Given the description of an element on the screen output the (x, y) to click on. 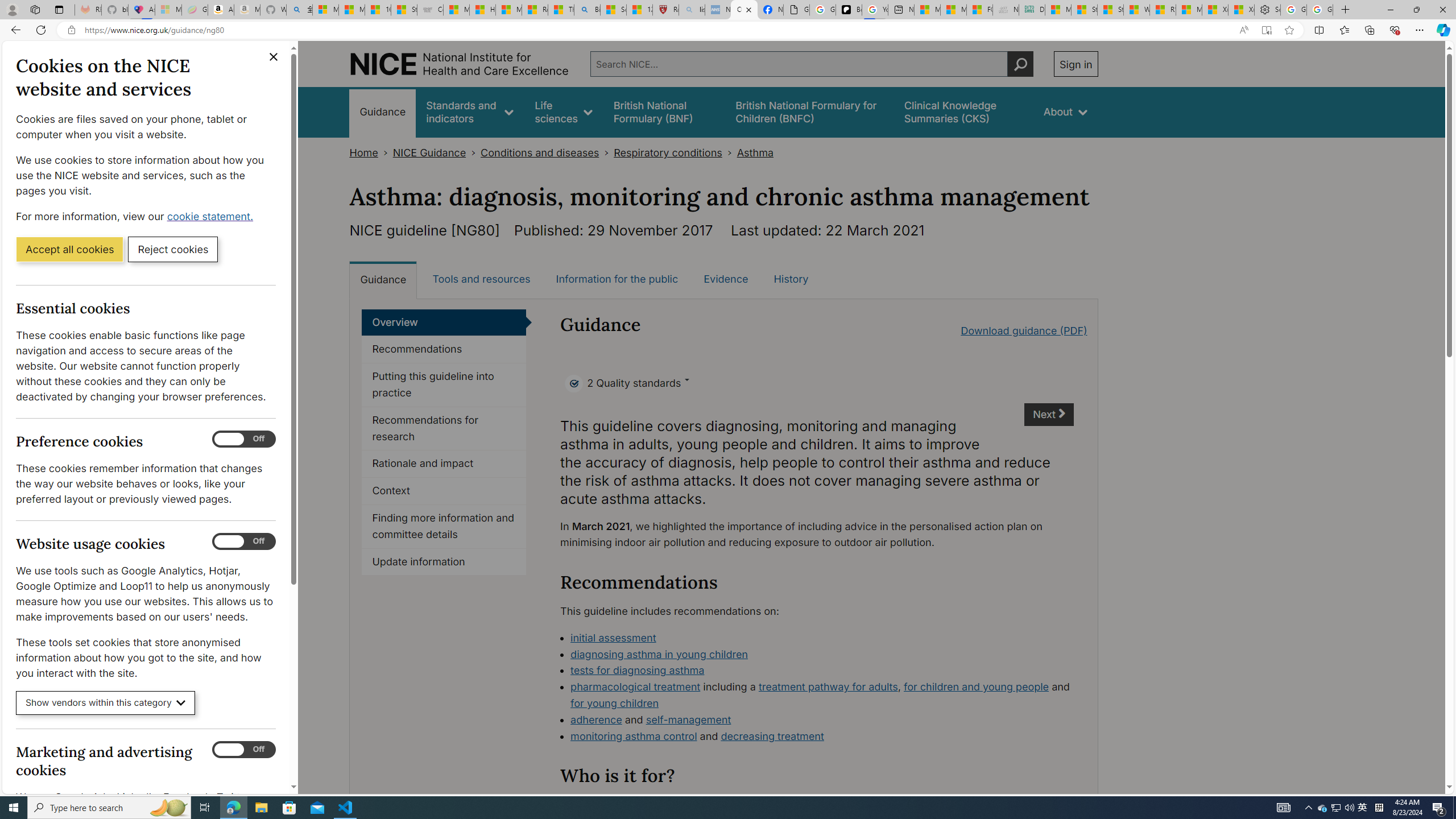
Recommendations (443, 349)
